Given the description of an element on the screen output the (x, y) to click on. 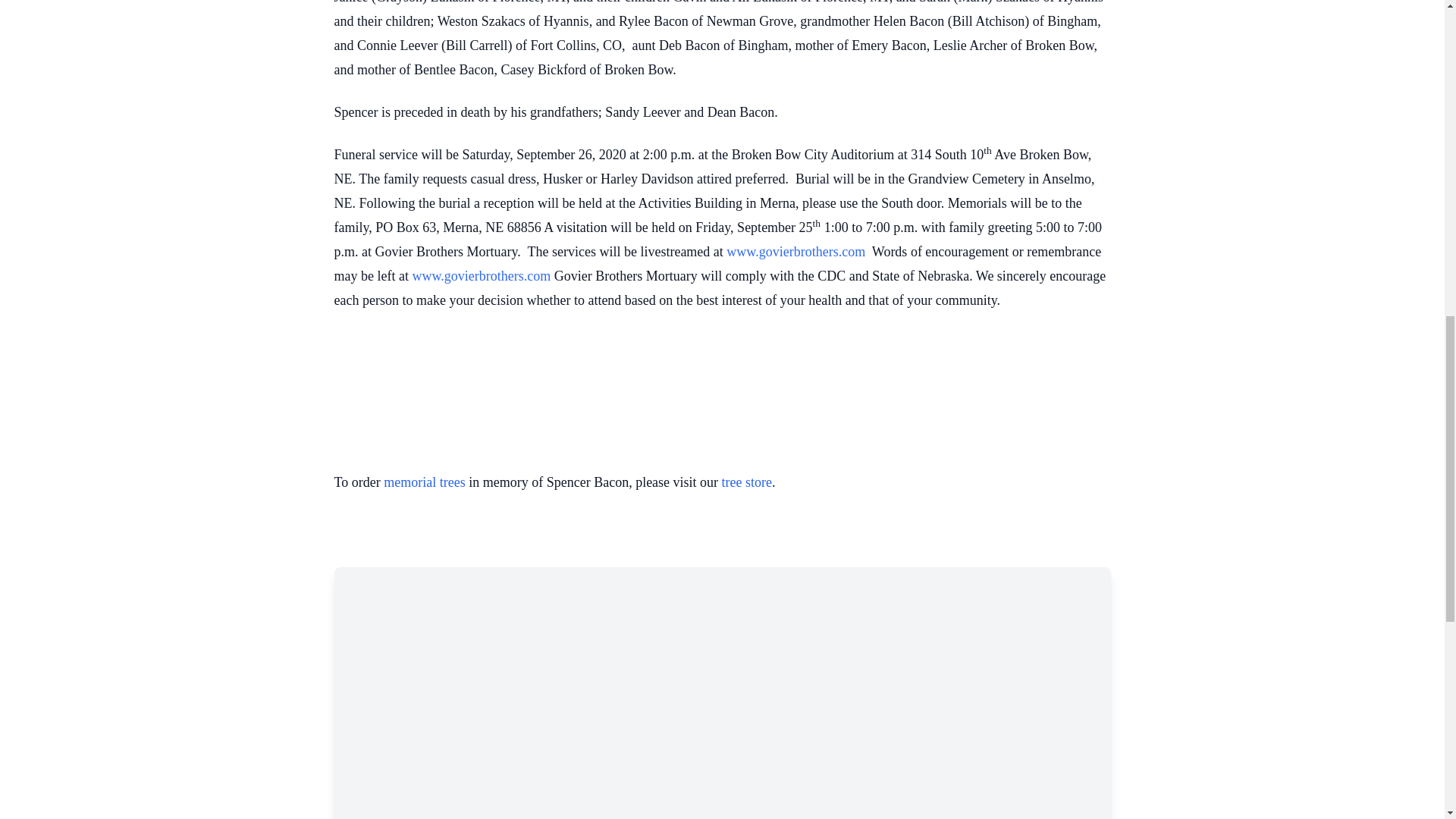
www.govierbrothers.com (481, 275)
memorial trees (424, 482)
www.govierbrothers.com (795, 251)
tree store (746, 482)
